Given the description of an element on the screen output the (x, y) to click on. 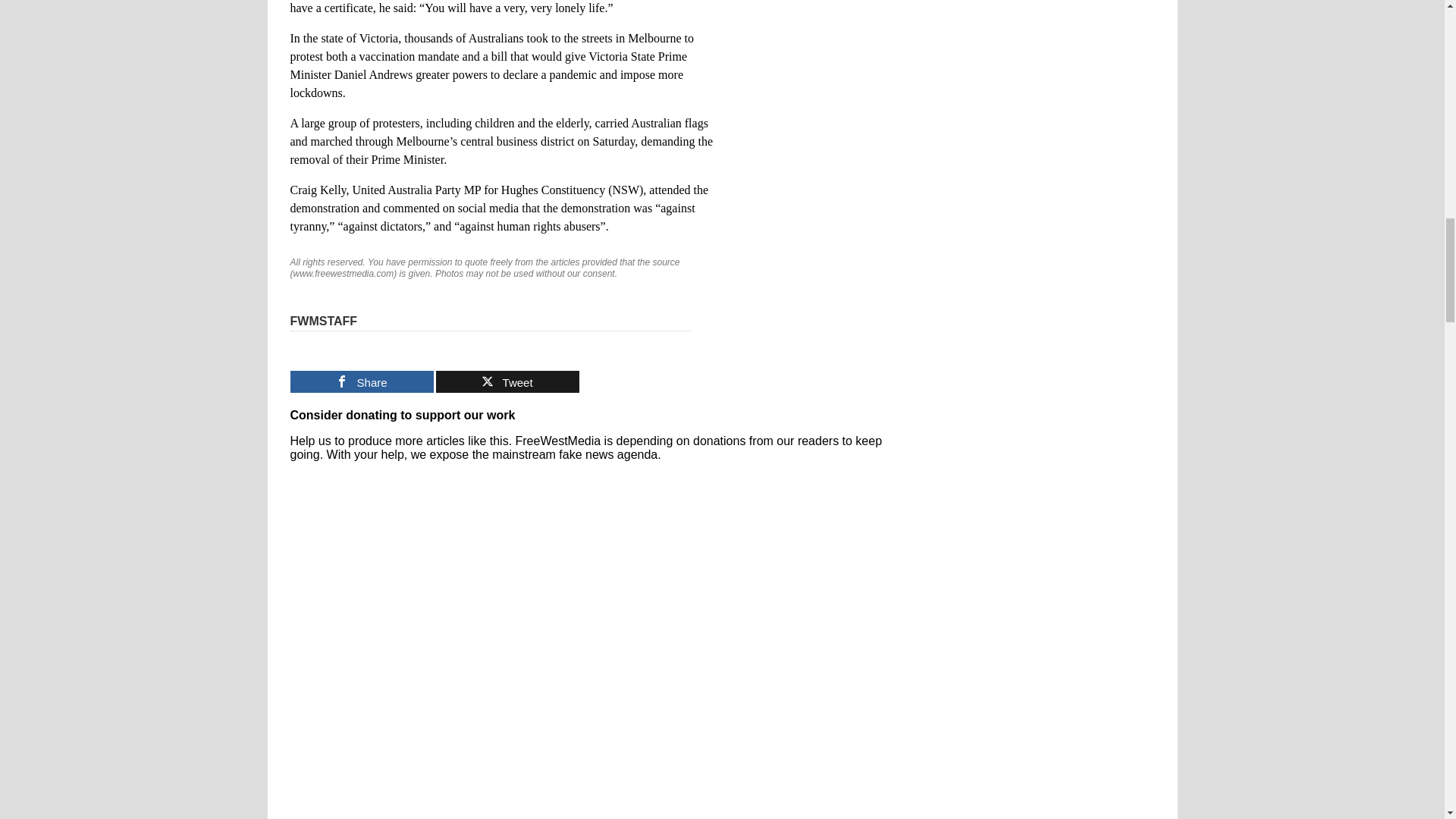
Tweet (506, 382)
Share (360, 382)
Posts by fwmstaff (322, 320)
FWMSTAFF (322, 320)
